Given the description of an element on the screen output the (x, y) to click on. 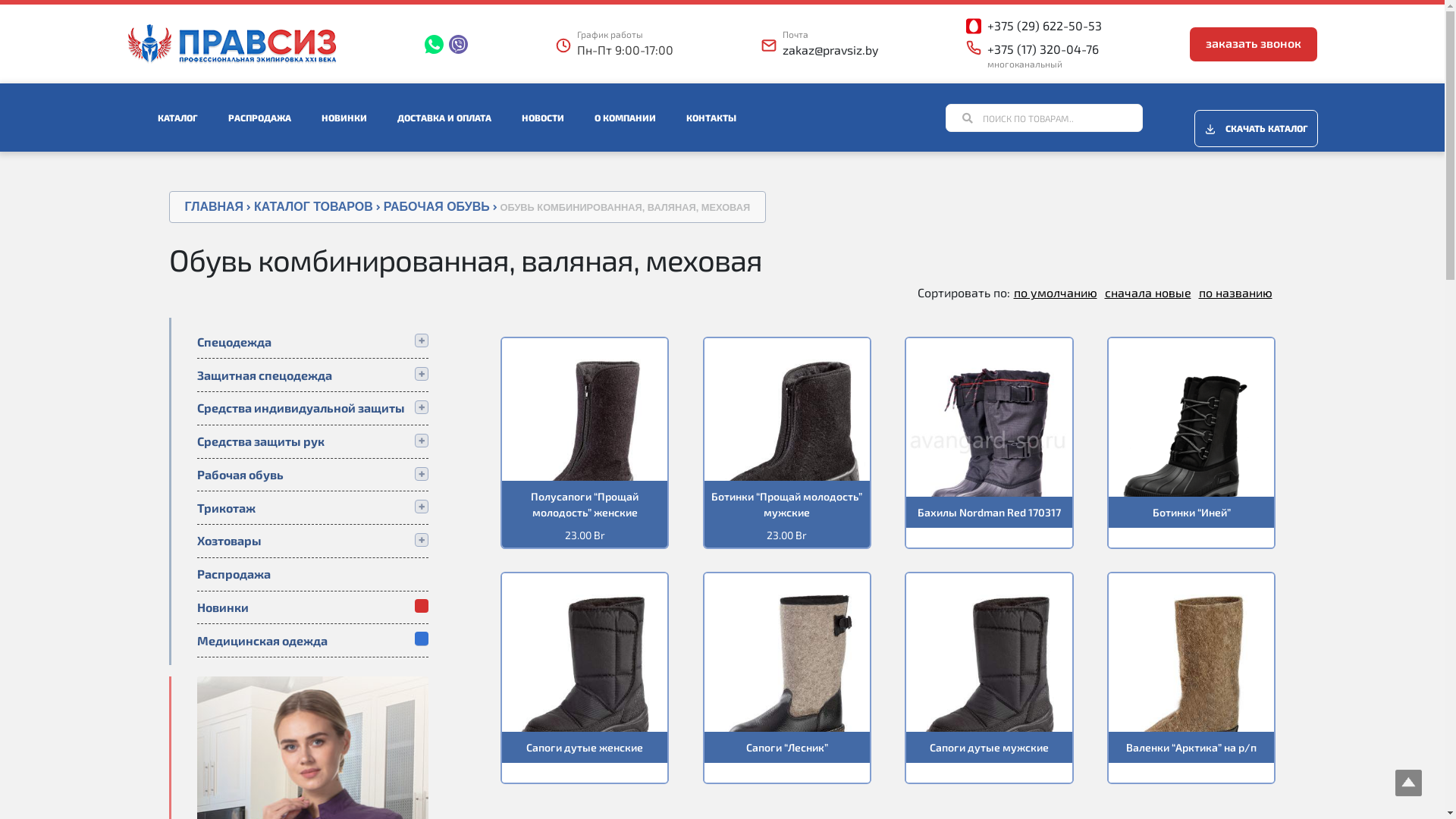
zakaz@pravsiz.by Element type: text (830, 49)
+375 (29) 622-50-53 Element type: text (1044, 26)
+375 (17) 320-04-76 Element type: text (1042, 48)
Top Element type: text (1408, 782)
